Given the description of an element on the screen output the (x, y) to click on. 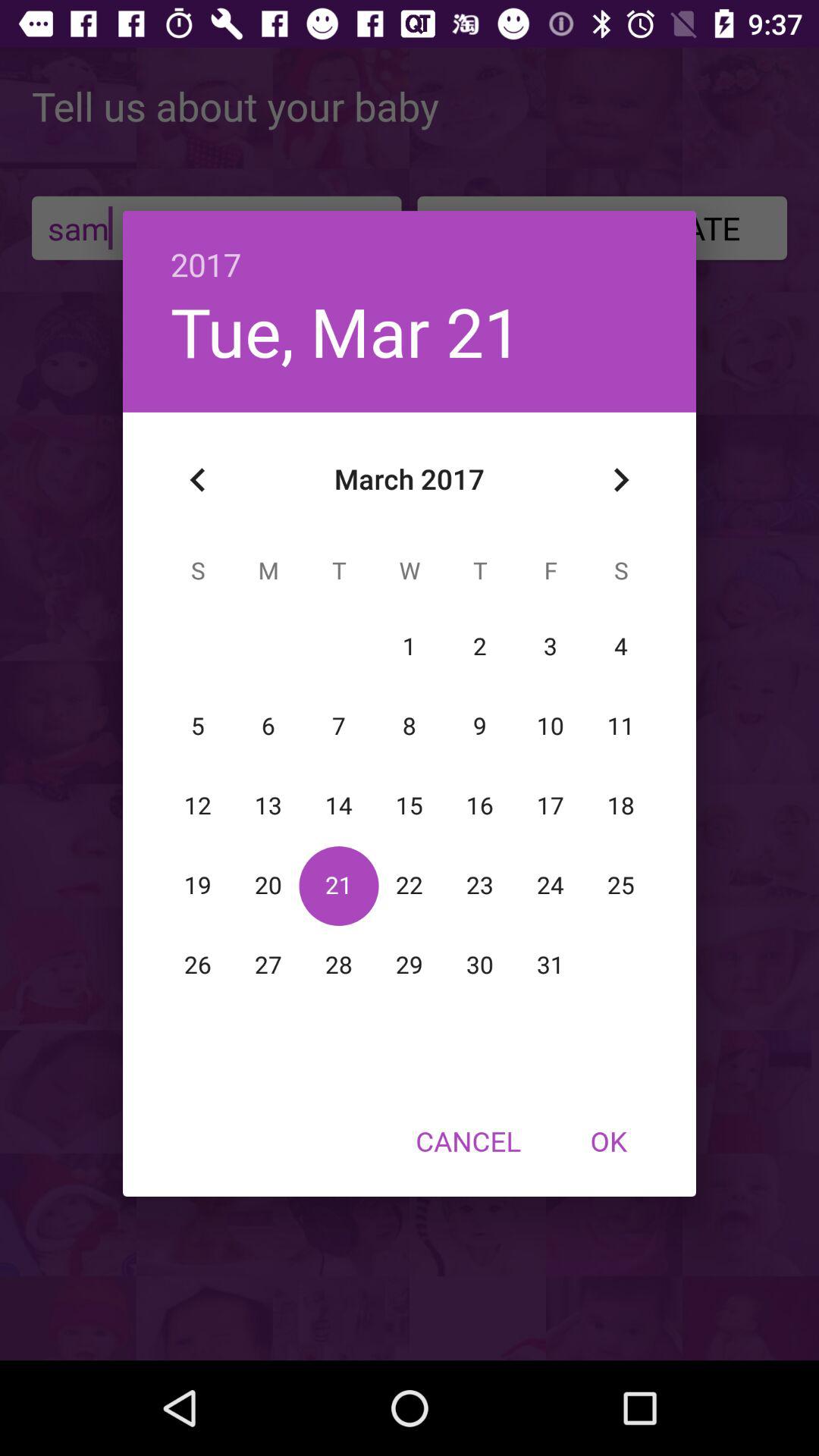
select the cancel (467, 1140)
